Given the description of an element on the screen output the (x, y) to click on. 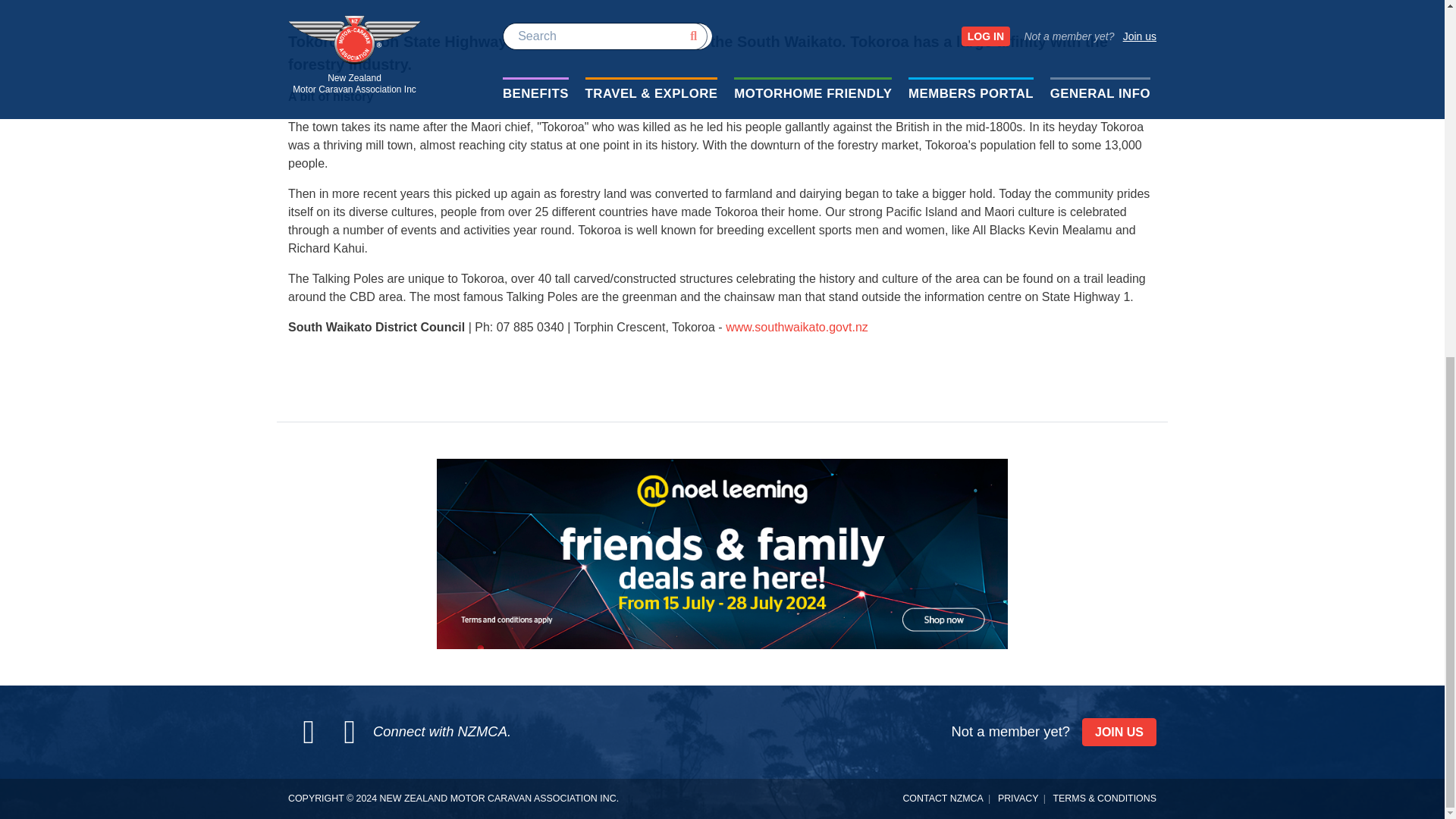
Noel Leeming (721, 553)
Call  07 885 0340 with 3CX Click to Call (680, 327)
